Given the description of an element on the screen output the (x, y) to click on. 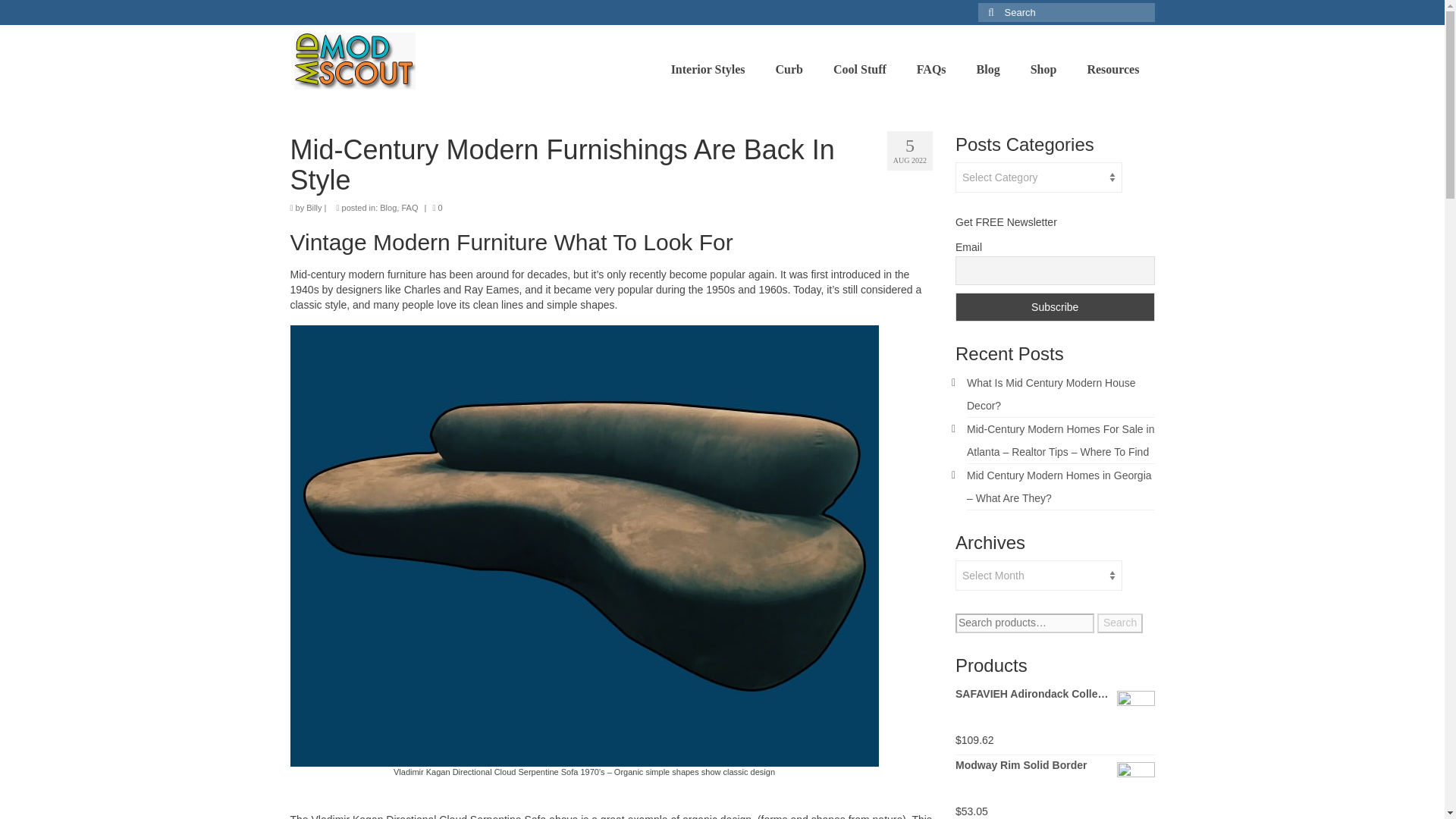
FAQs (930, 69)
Subscribe (1054, 306)
Shop (1042, 69)
Cool Stuff (859, 69)
Blog (987, 69)
Resources (1112, 69)
Curb (789, 69)
Interior Styles (708, 69)
